Given the description of an element on the screen output the (x, y) to click on. 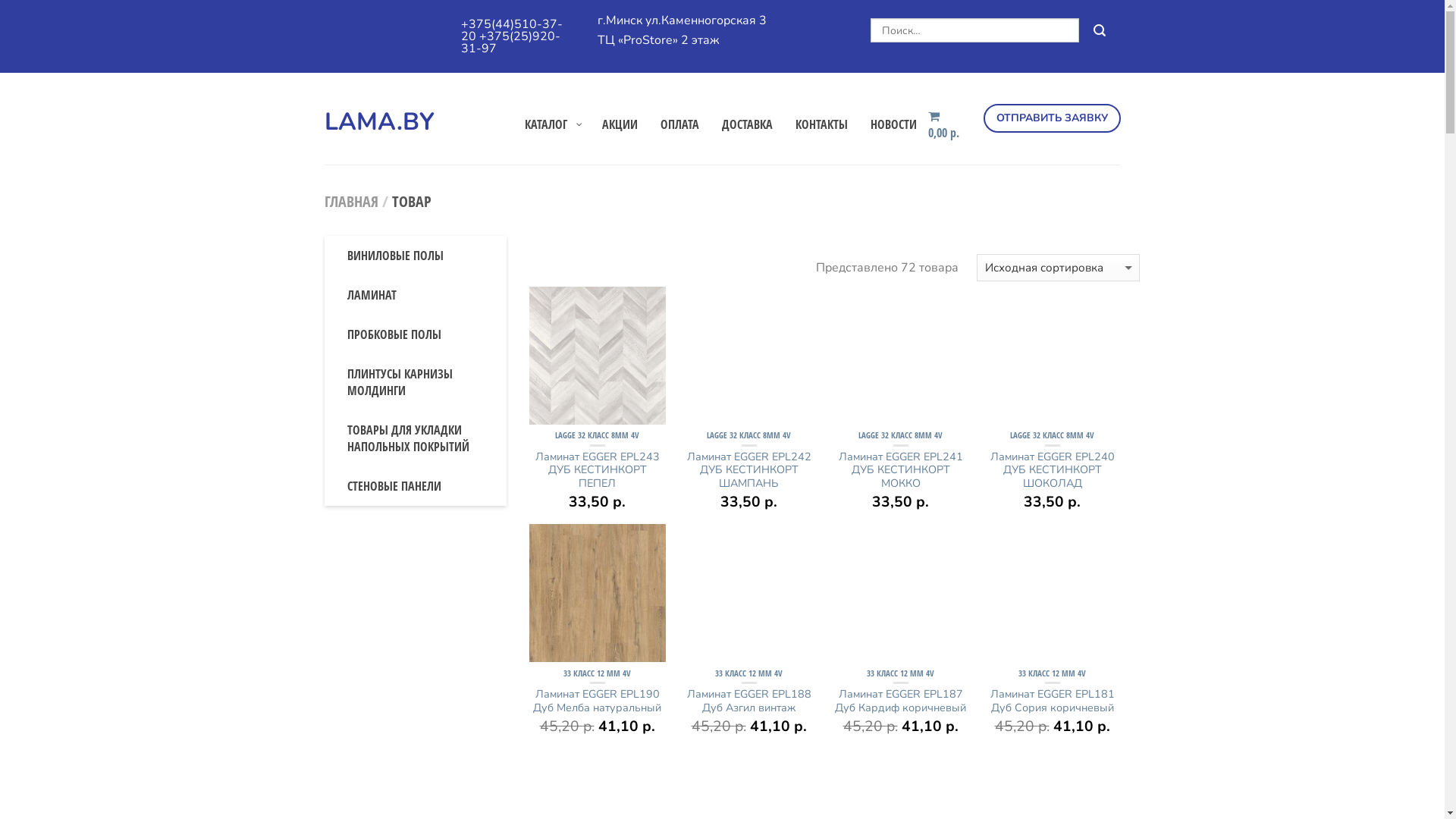
LAMA.BY Element type: text (413, 118)
+375(44)510-37-20 Element type: text (511, 29)
+375(25)920-31-97 Element type: text (510, 42)
